Given the description of an element on the screen output the (x, y) to click on. 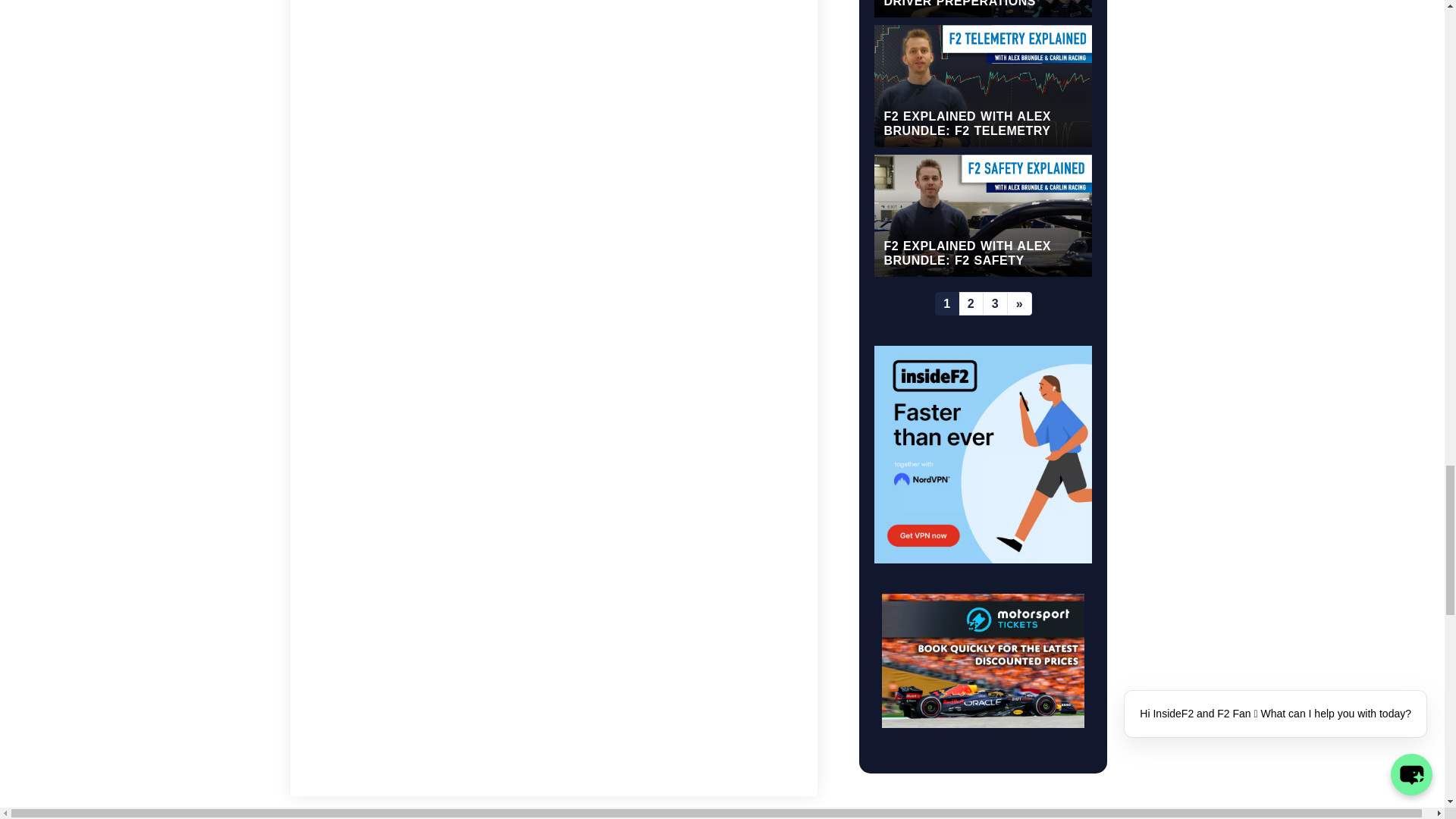
Next page (1019, 303)
